Given the description of an element on the screen output the (x, y) to click on. 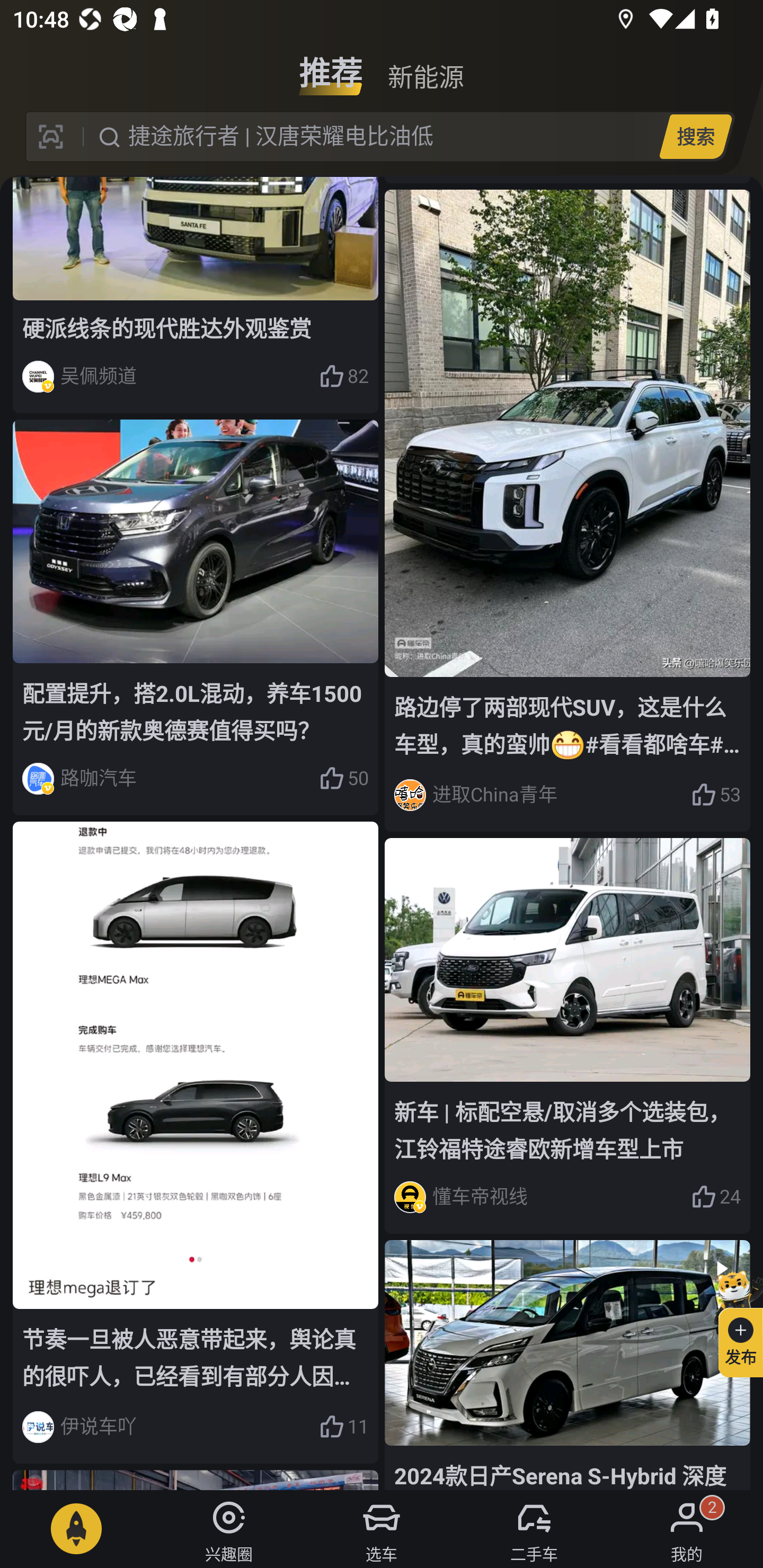
推荐 (330, 65)
新能源 (425, 65)
搜索 (695, 136)
硬派线条的现代胜达外观鉴赏 吴佩频道 82 (195, 295)
82 (343, 375)
配置提升，搭2.0L混动，养车1500元/月的新款奥德赛值得买吗？ 路咖汽车 50 (195, 617)
50 (343, 778)
53 (715, 794)
新车 | 标配空悬/取消多个选装包，江铃福特途睿欧新增车型上市 懂车帝视线 24 (567, 1035)
24 (715, 1196)
 2024款日产Serena S-Hybrid 深度体验外观和内饰 (567, 1364)
发布 (732, 1321)
11 (343, 1426)
 兴趣圈 (228, 1528)
 选车 (381, 1528)
 二手车 (533, 1528)
 我的 (686, 1528)
